Given the description of an element on the screen output the (x, y) to click on. 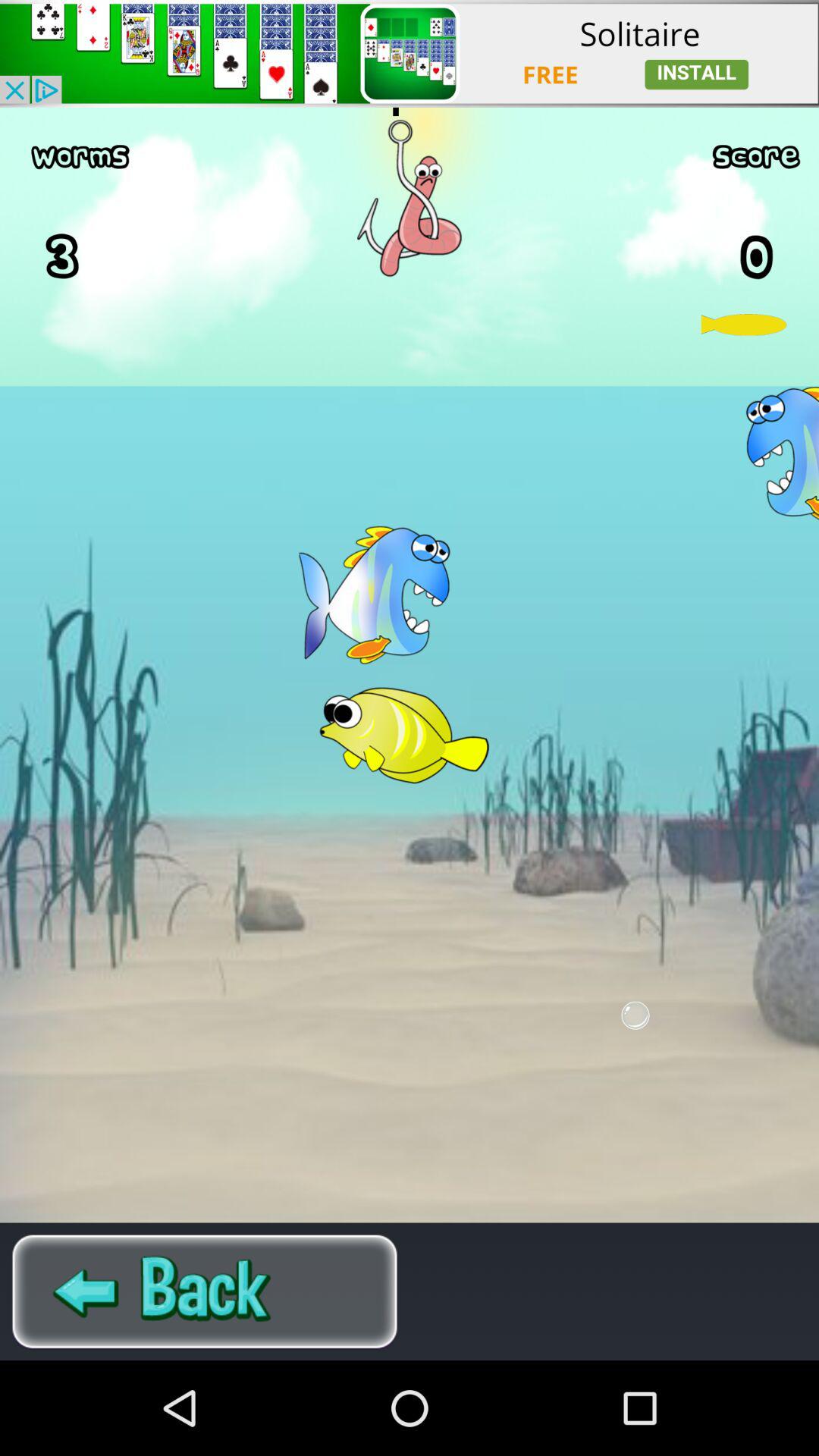
go back (204, 1291)
